Given the description of an element on the screen output the (x, y) to click on. 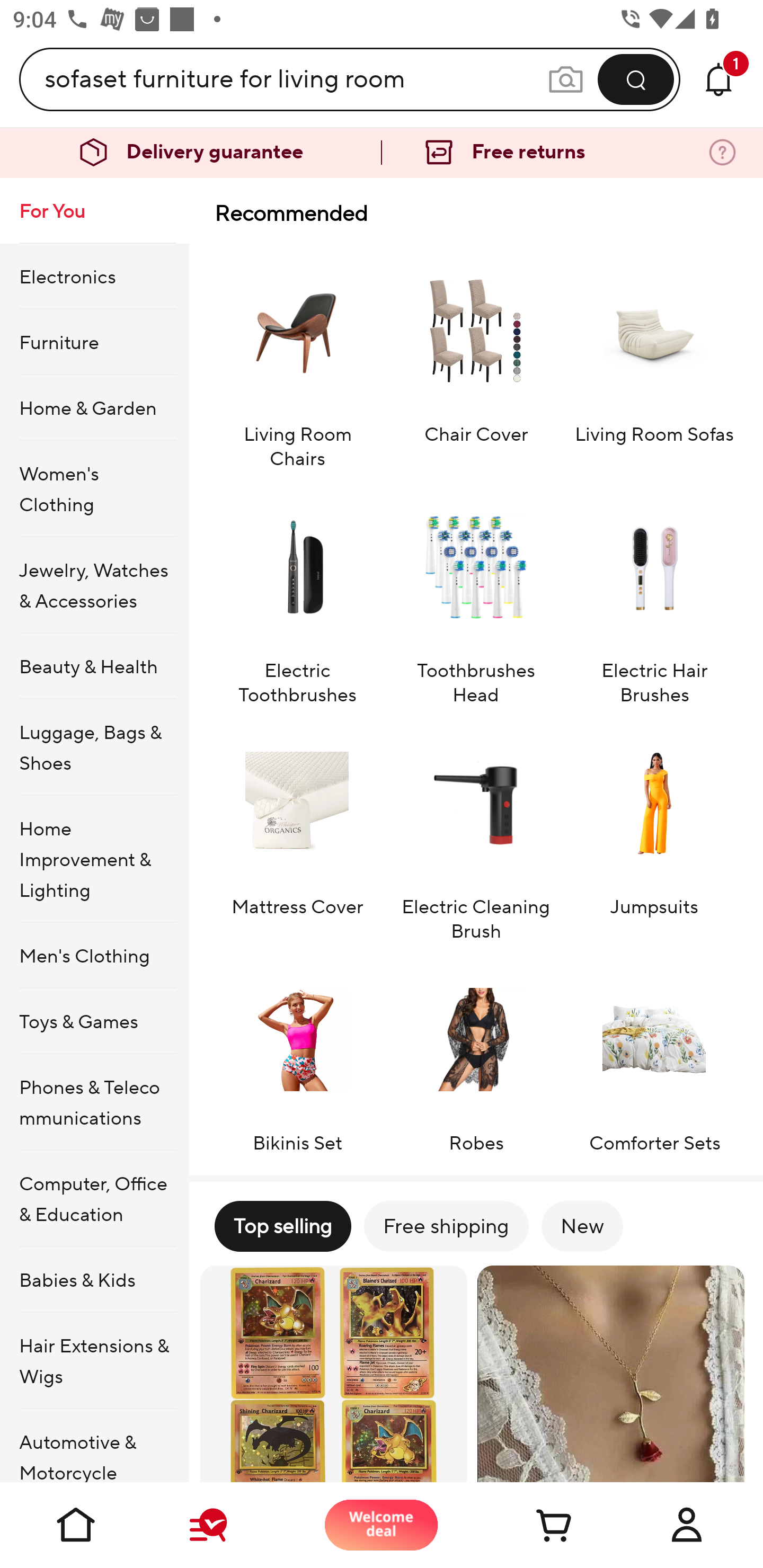
sofaset furniture for living room Search query (295, 79)
Messages 1 (718, 79)
Delivery guarantee Free returns (381, 152)
For You (94, 210)
Recommended (476, 212)
Electronics (94, 275)
Living Room Chairs (296, 359)
Chair Cover (475, 359)
Living Room Sofas (654, 359)
Furniture (94, 341)
Home & Garden (94, 407)
Women's Clothing (94, 488)
Electric Toothbrushes (296, 596)
Toothbrushes Head (475, 596)
Electric Hair Brushes (654, 596)
Jewelry, Watches & Accessories (94, 585)
Beauty & Health (94, 666)
Luggage, Bags & Shoes (94, 746)
Mattress Cover (296, 832)
Electric Cleaning Brush (475, 832)
Jumpsuits (654, 832)
Home Improvement & Lighting (94, 858)
Men's Clothing (94, 955)
Bikinis Set (296, 1056)
Robes (475, 1056)
Comforter Sets (654, 1056)
Toys & Games (94, 1020)
Phones & Telecommunications (94, 1101)
Computer, Office & Education (94, 1198)
Top selling (282, 1226)
Free shipping (445, 1226)
New (582, 1226)
Babies & Kids (94, 1279)
Hair Extensions & Wigs (94, 1360)
Automotive & Motorcycle (94, 1445)
Home (76, 1524)
Cart (533, 1524)
Account (686, 1524)
